Given the description of an element on the screen output the (x, y) to click on. 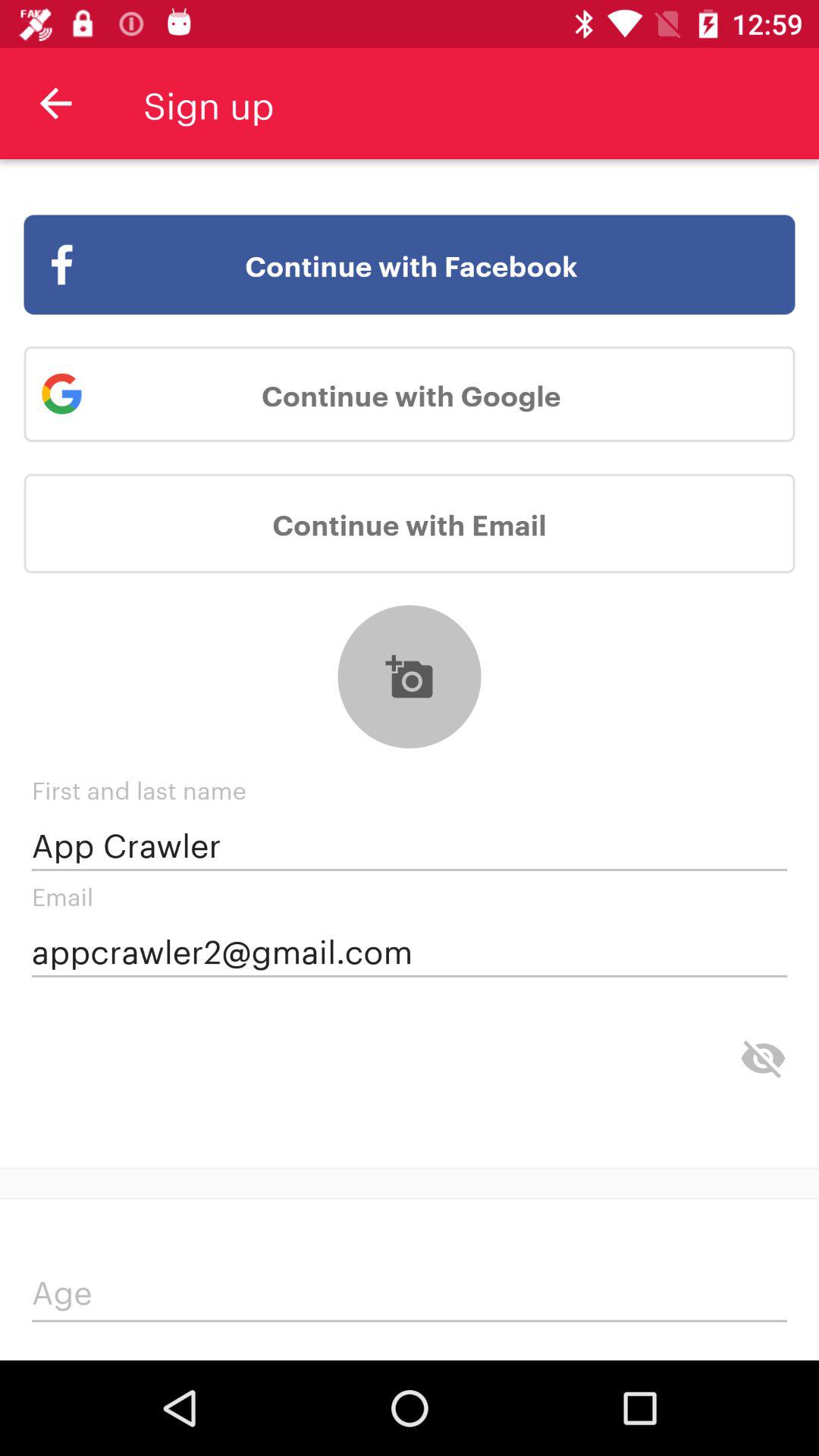
box of text (409, 1294)
